Given the description of an element on the screen output the (x, y) to click on. 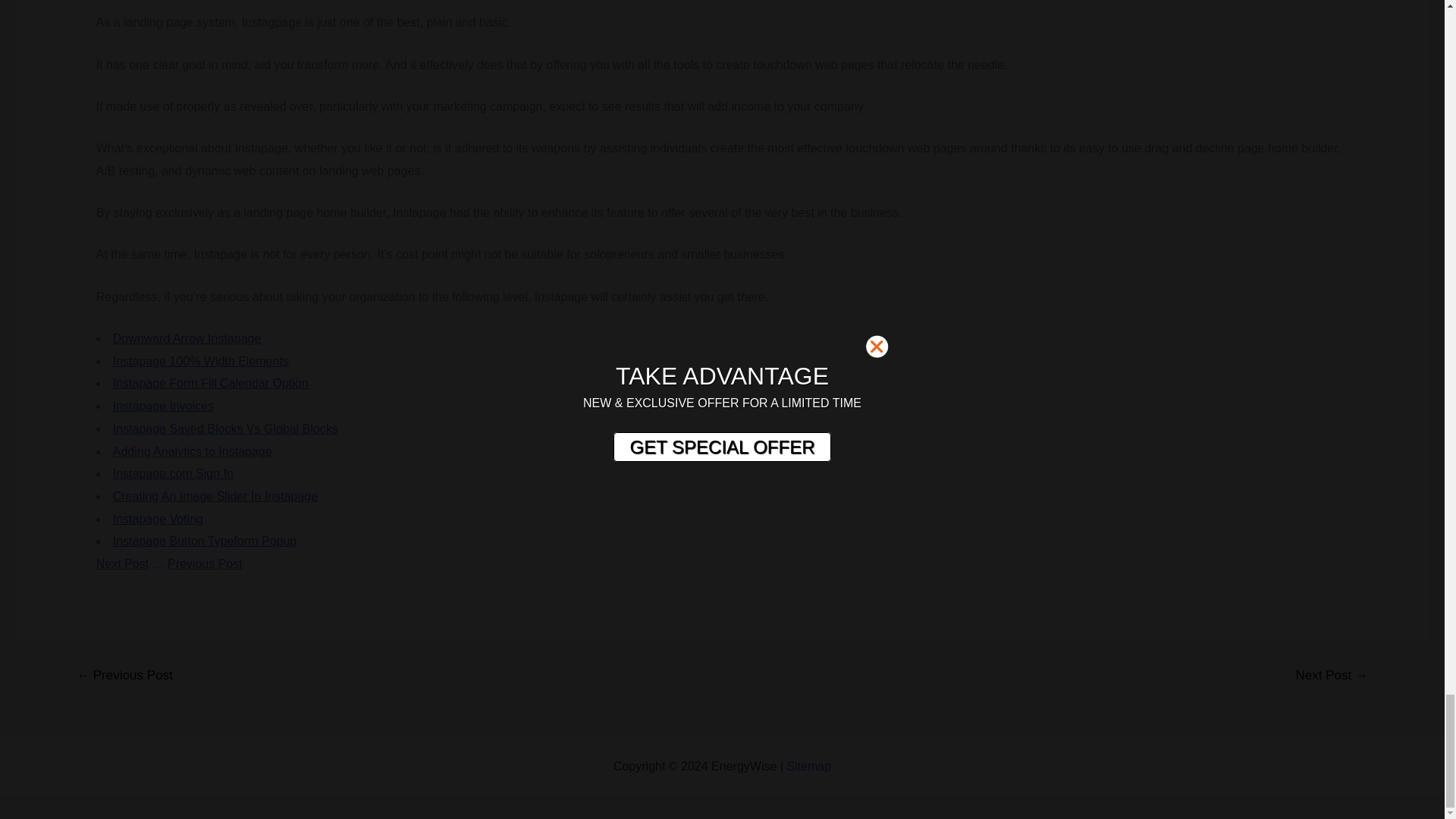
Instapage Invoices (163, 405)
Instapage Voting (158, 518)
Adding Analytics to Instapage (192, 450)
Instapage Form Fill Calendar Option (210, 382)
Instapage.com Sign In (172, 472)
Previous Post (205, 563)
Instapage Form Fill Calendar Option (210, 382)
Instapage Invoices (163, 405)
Downward Arrow Instapage (187, 338)
Downward Arrow Instapage (187, 338)
Adding Analytics to Instapage (192, 450)
Instapage Voting (158, 518)
Creating An Image Slider In Instapage (215, 495)
Instapage.com Sign In (172, 472)
Creating An Image Slider In Instapage (215, 495)
